Given the description of an element on the screen output the (x, y) to click on. 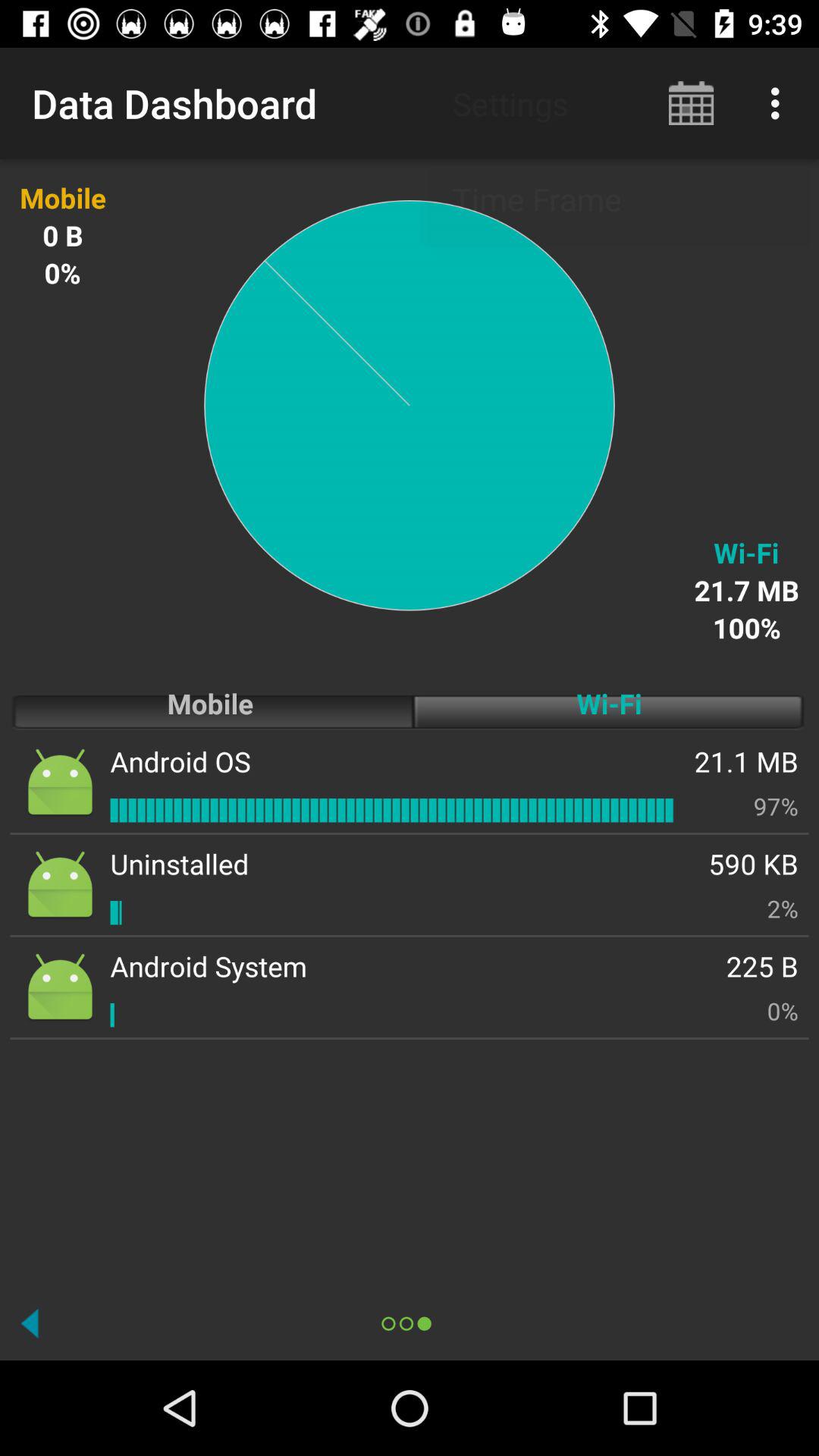
scroll until android system item (208, 966)
